Given the description of an element on the screen output the (x, y) to click on. 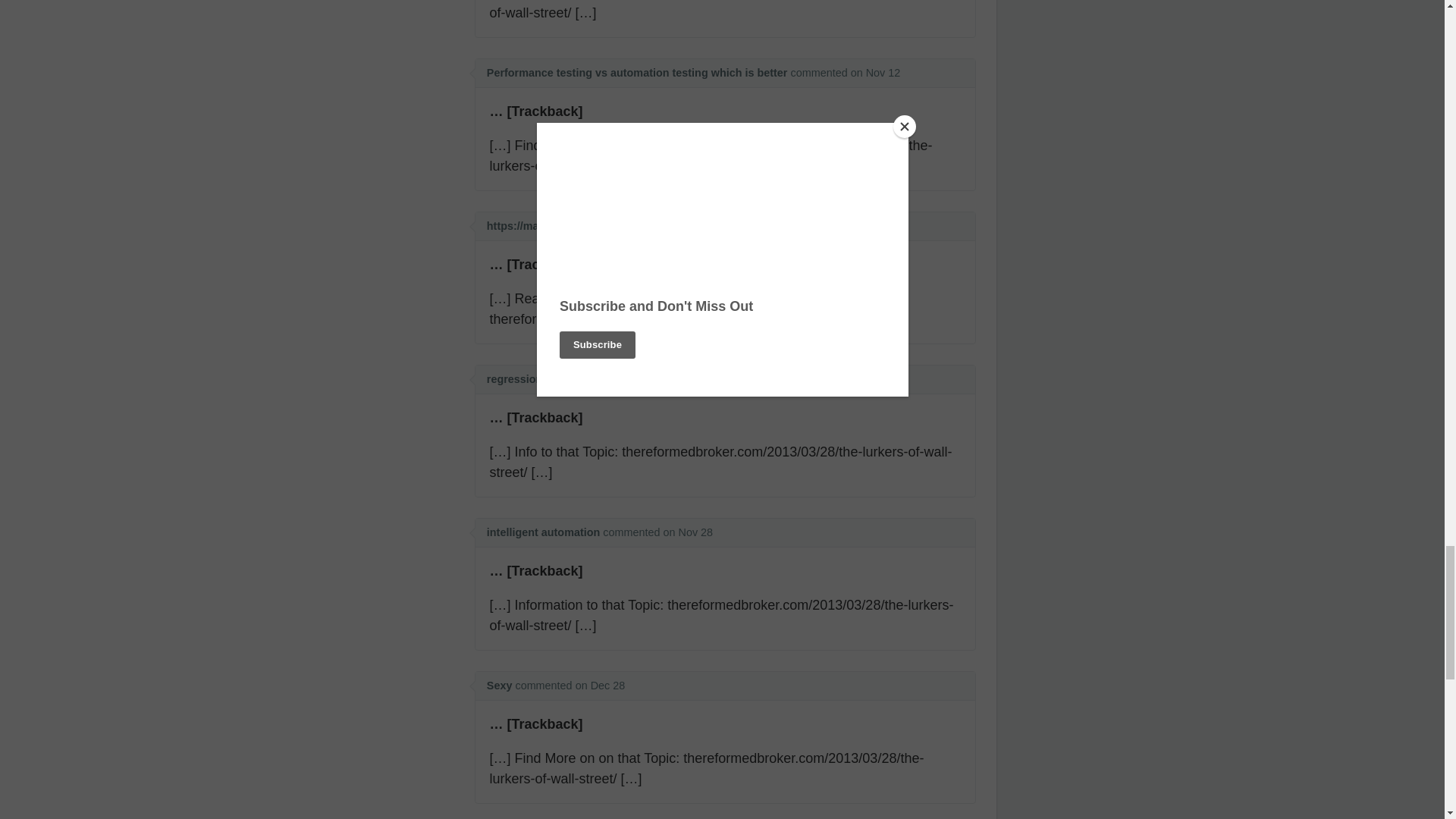
intelligent automation (542, 532)
Sexy (499, 685)
Performance testing vs automation testing which is better (636, 72)
regression testing definition (559, 378)
